Given the description of an element on the screen output the (x, y) to click on. 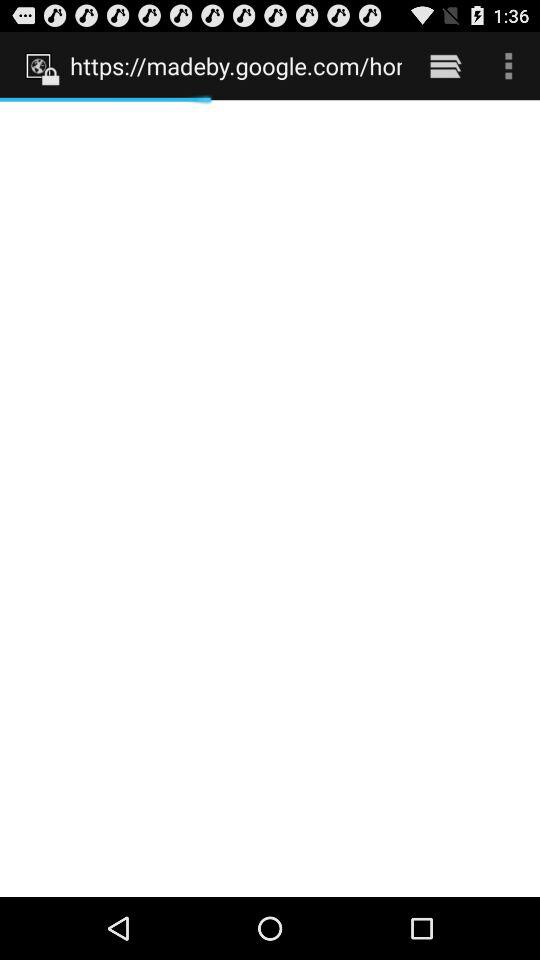
launch the item next to https madeby google icon (444, 65)
